Given the description of an element on the screen output the (x, y) to click on. 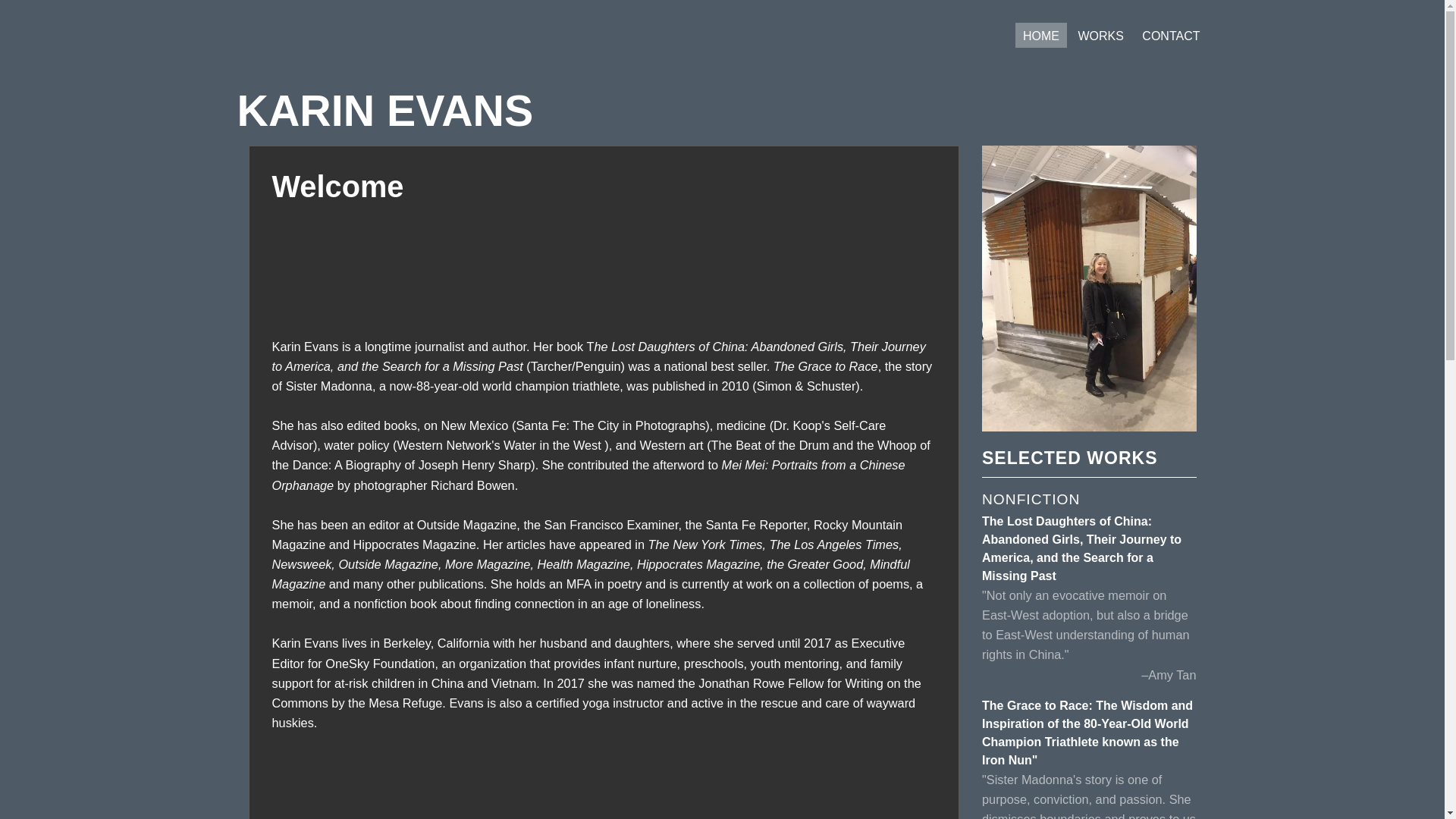
WORKS (1100, 34)
HOME (1040, 34)
CONTACT (1170, 34)
KARIN EVANS (721, 111)
